Given the description of an element on the screen output the (x, y) to click on. 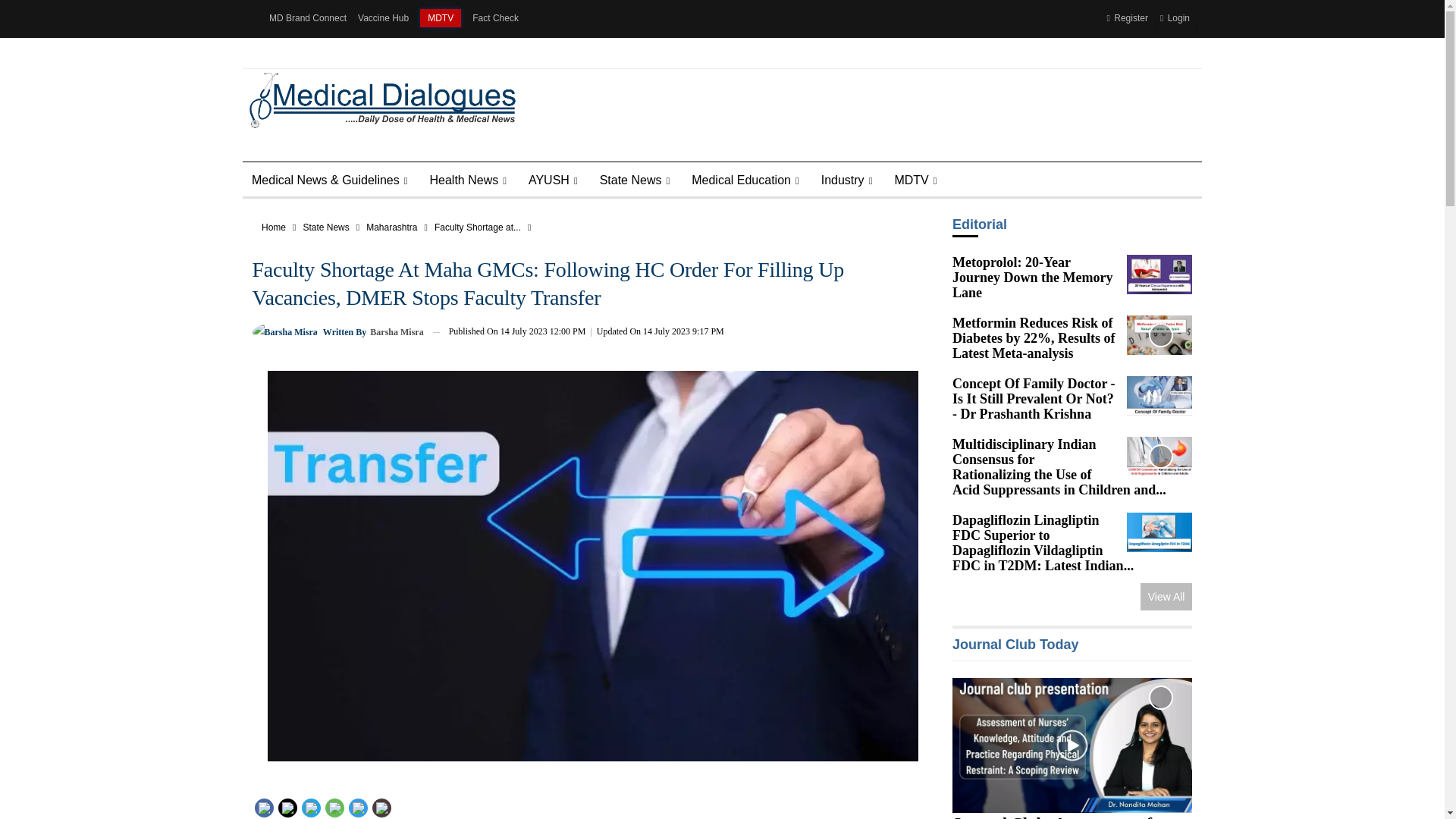
Share by Email (381, 808)
Medical Dialogues (378, 98)
MD Brand Connect (307, 18)
LinkedIn (310, 806)
Vaccine Hub (383, 18)
Twitter (287, 806)
Metoprolol: 20-Year Journey Down the Memory Lane (1159, 274)
telegram (357, 808)
facebook (263, 808)
whatsapp (334, 808)
Fact Check (494, 18)
MDTV (440, 18)
Facebook (263, 806)
linkedin (309, 808)
